Given the description of an element on the screen output the (x, y) to click on. 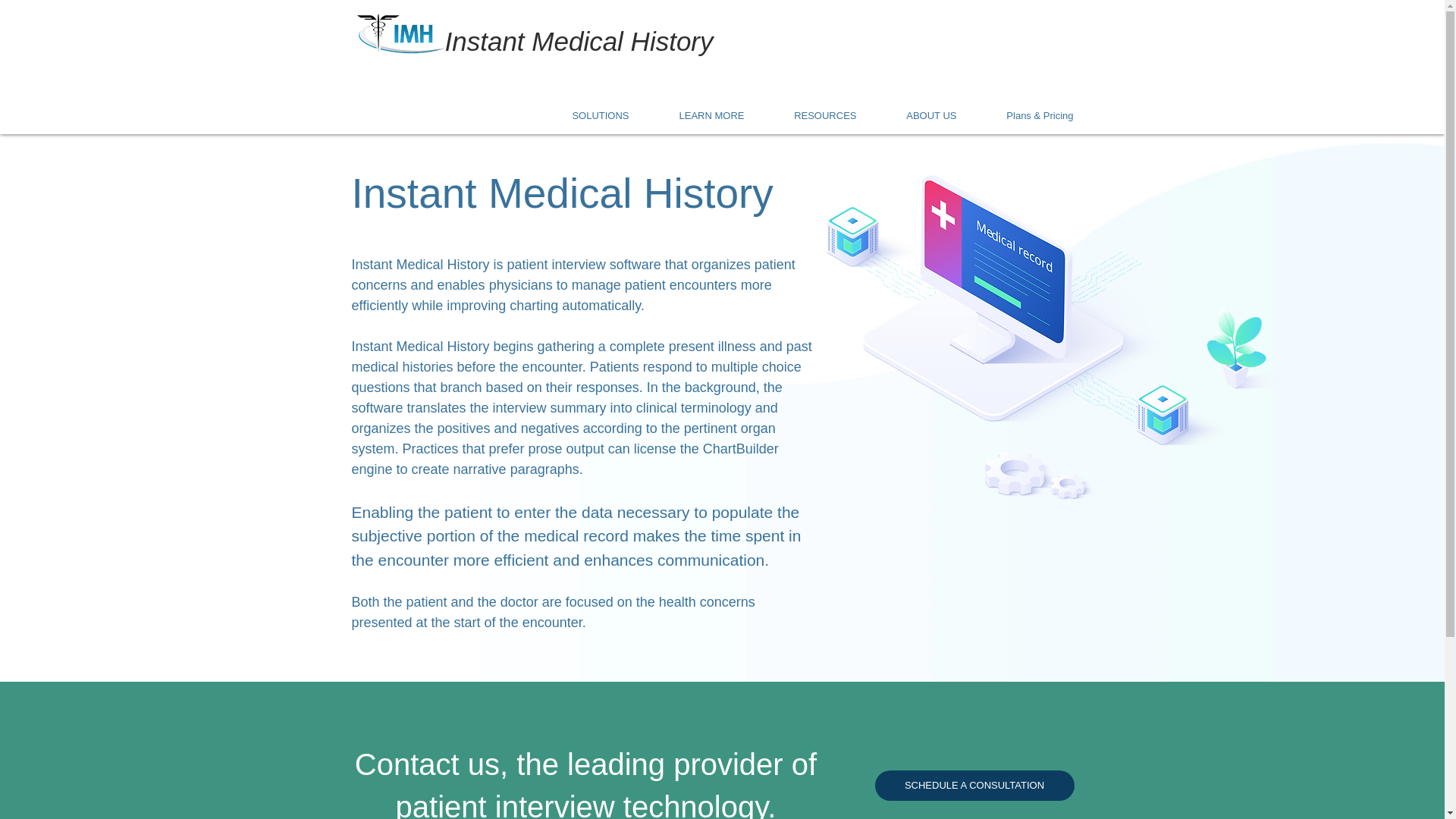
Instant Medical History (578, 41)
ABOUT US (922, 115)
LEARN MORE (702, 115)
SCHEDULE A CONSULTATION (974, 785)
